Given the description of an element on the screen output the (x, y) to click on. 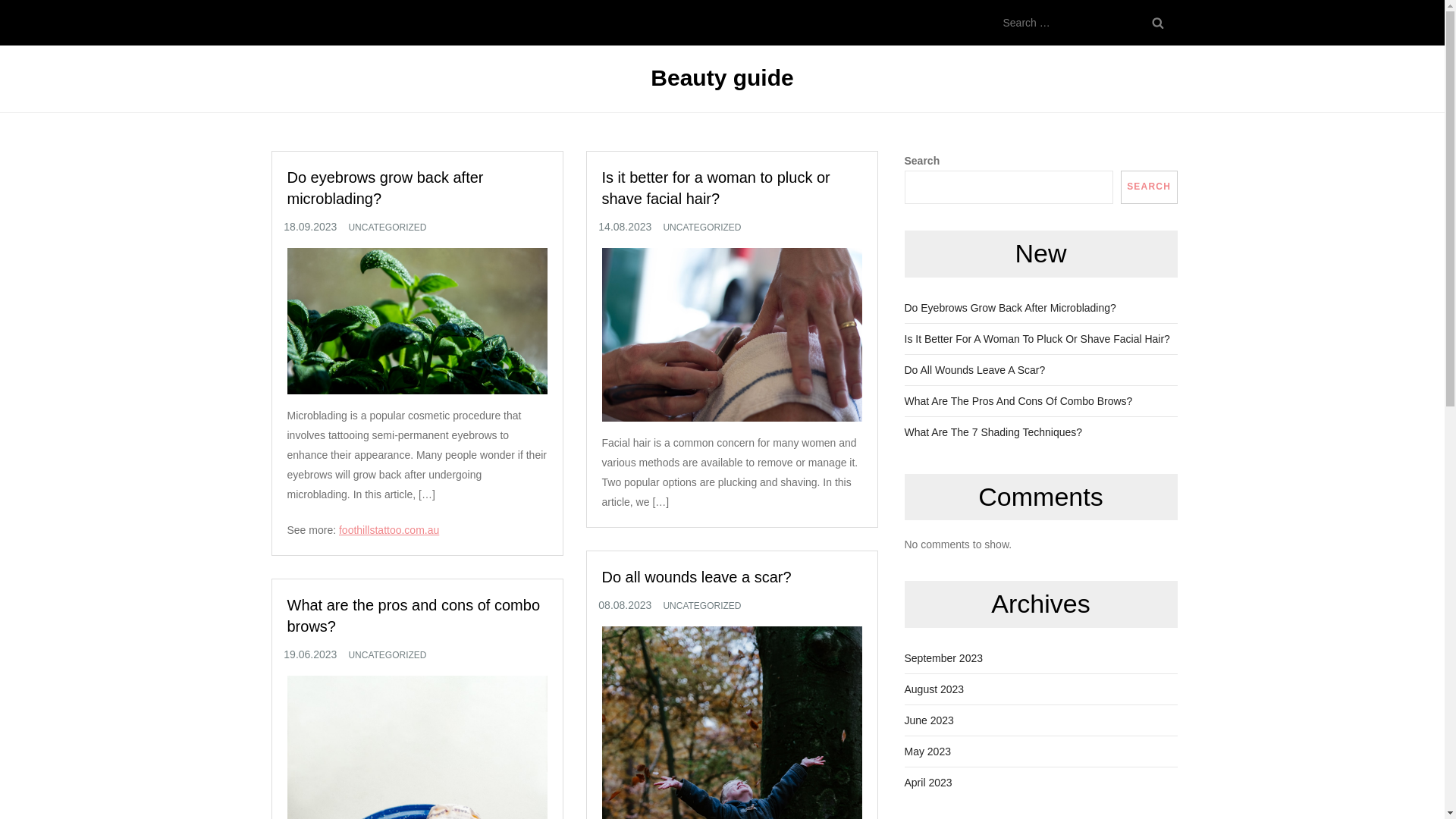
19.06.2023 Element type: text (309, 654)
Beauty guide Element type: text (721, 77)
18.09.2023 Element type: text (309, 226)
UNCATEGORIZED Element type: text (387, 228)
June 2023 Element type: text (928, 720)
Do all wounds leave a scar? Element type: text (696, 576)
UNCATEGORIZED Element type: text (701, 228)
UNCATEGORIZED Element type: text (701, 606)
Search Element type: text (1156, 22)
Is it better for a woman to pluck or shave facial hair? Element type: text (716, 188)
Do Eyebrows Grow Back After Microblading? Element type: text (1009, 307)
May 2023 Element type: text (926, 751)
foothillstattoo.com.au Element type: text (388, 530)
Is It Better For A Woman To Pluck Or Shave Facial Hair? Element type: text (1036, 338)
August 2023 Element type: text (933, 689)
September 2023 Element type: text (942, 658)
SEARCH Element type: text (1148, 186)
Do eyebrows grow back after microblading? Element type: text (384, 188)
08.08.2023 Element type: text (624, 605)
UNCATEGORIZED Element type: text (387, 655)
What are the pros and cons of combo brows? Element type: text (412, 615)
What Are The 7 Shading Techniques? Element type: text (992, 432)
April 2023 Element type: text (927, 782)
14.08.2023 Element type: text (624, 226)
What Are The Pros And Cons Of Combo Brows? Element type: text (1017, 401)
Do All Wounds Leave A Scar? Element type: text (973, 369)
